Given the description of an element on the screen output the (x, y) to click on. 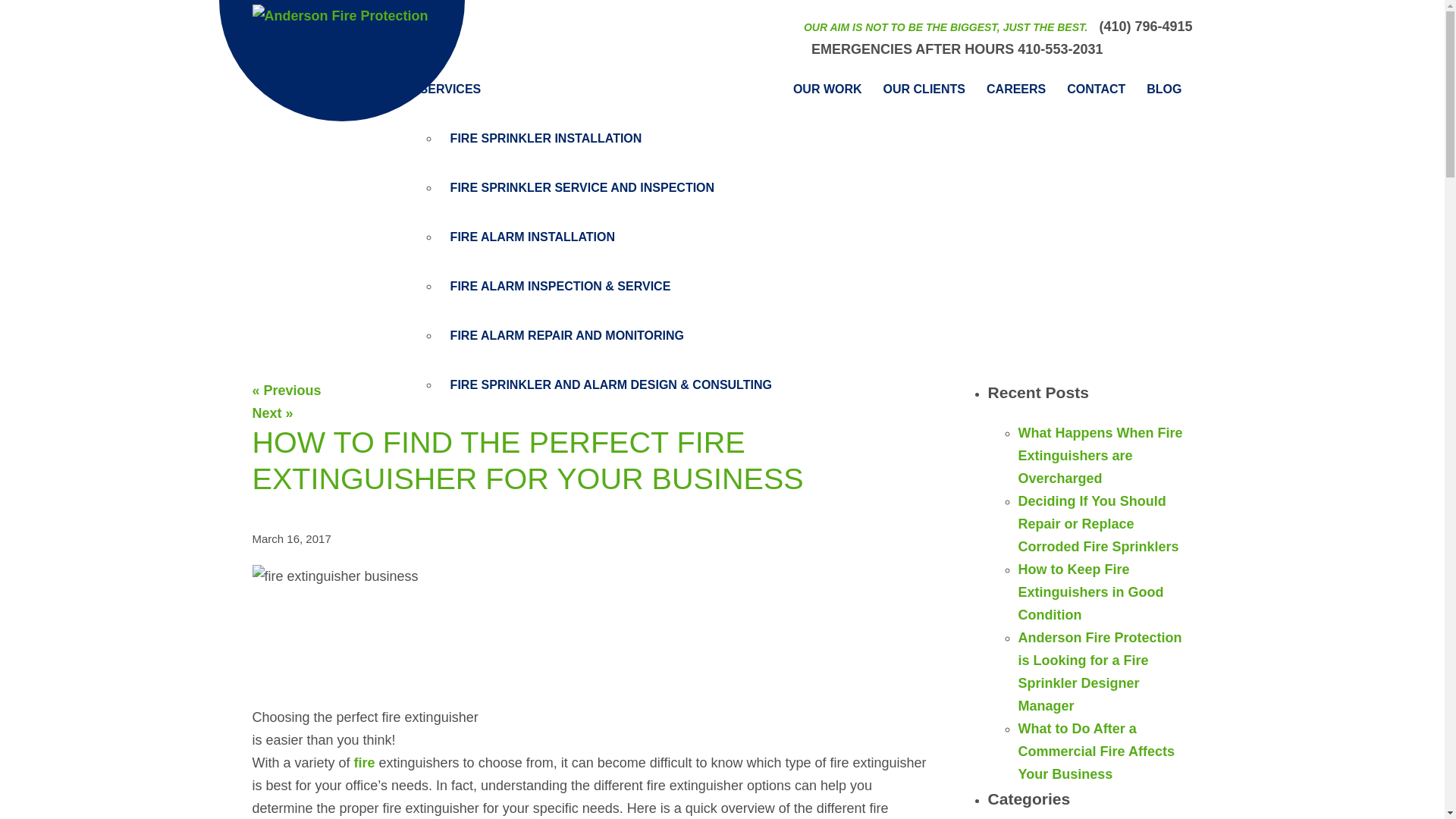
How to Keep Fire Extinguishers in Good Condition (1090, 591)
fire (364, 762)
CONTACT (1096, 89)
CAREERS (1016, 89)
FIRE ALARM INSTALLATION (611, 236)
SERVICES (596, 89)
What Happens When Fire Extinguishers are Overcharged (1099, 455)
FIRE ALARM REPAIR AND MONITORING (611, 336)
Anderson Fire Protection (340, 43)
